Given the description of an element on the screen output the (x, y) to click on. 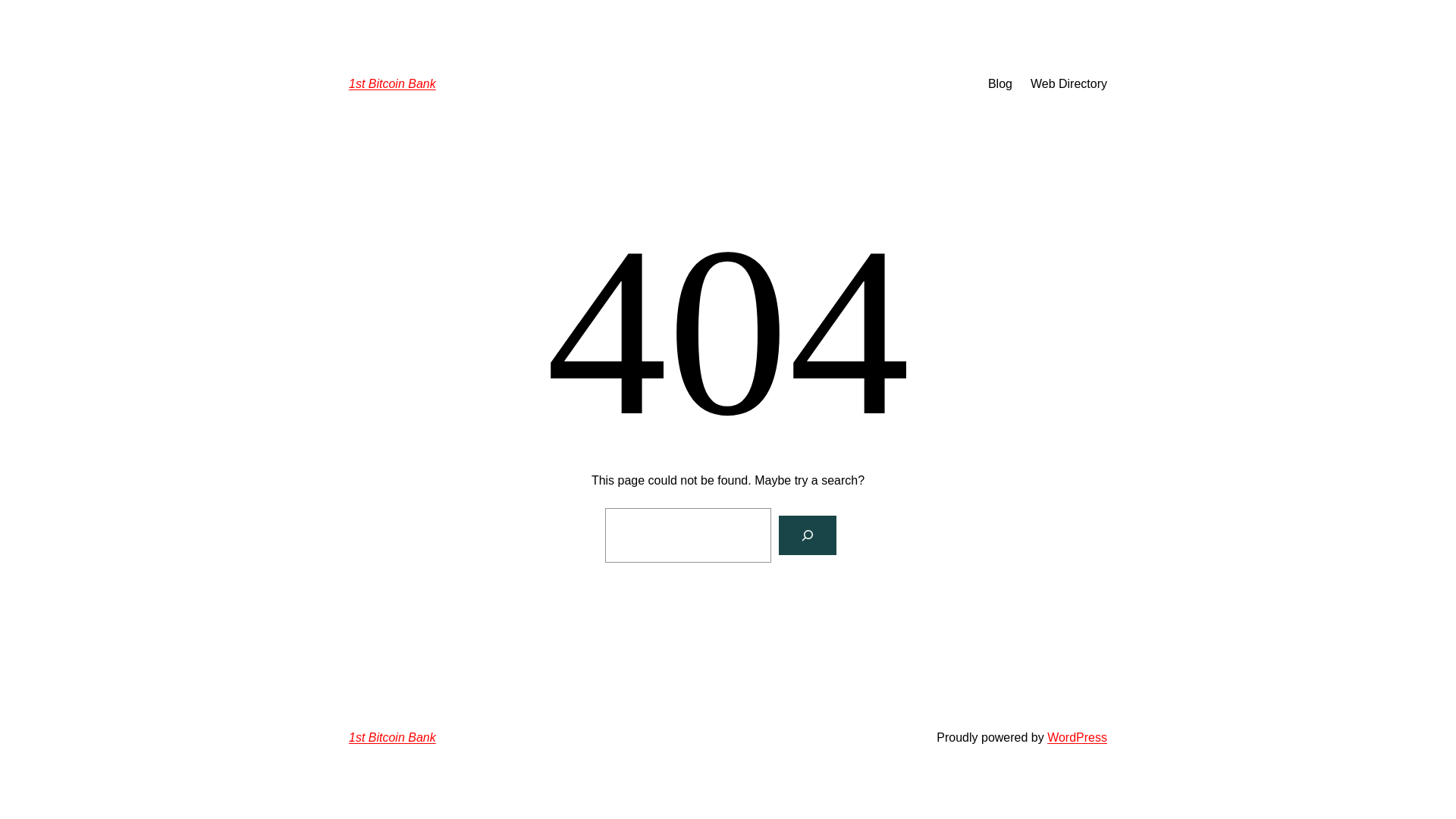
Web Directory Element type: text (1068, 84)
1st Bitcoin Bank Element type: text (392, 737)
1st Bitcoin Bank Element type: text (392, 83)
Blog Element type: text (1000, 84)
WordPress Element type: text (1077, 737)
